Given the description of an element on the screen output the (x, y) to click on. 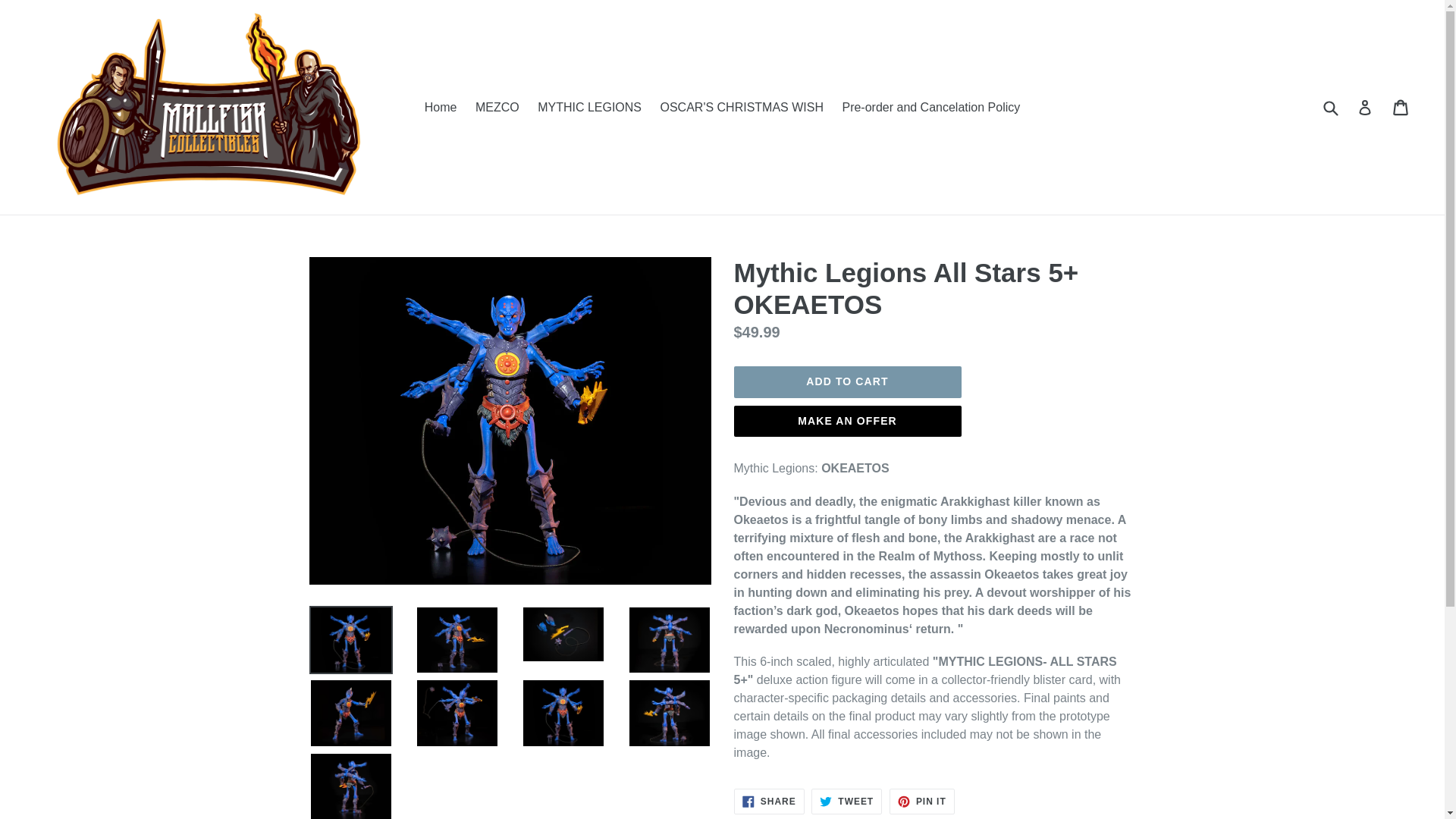
Pin on Pinterest (922, 801)
Share on Facebook (769, 801)
Pre-order and Cancelation Policy (769, 801)
MYTHIC LEGIONS (930, 107)
ADD TO CART (589, 107)
Home (846, 382)
MEZCO (440, 107)
MAKE AN OFFER (497, 107)
Tweet on Twitter (846, 421)
OSCAR'S CHRISTMAS WISH (846, 801)
